Given the description of an element on the screen output the (x, y) to click on. 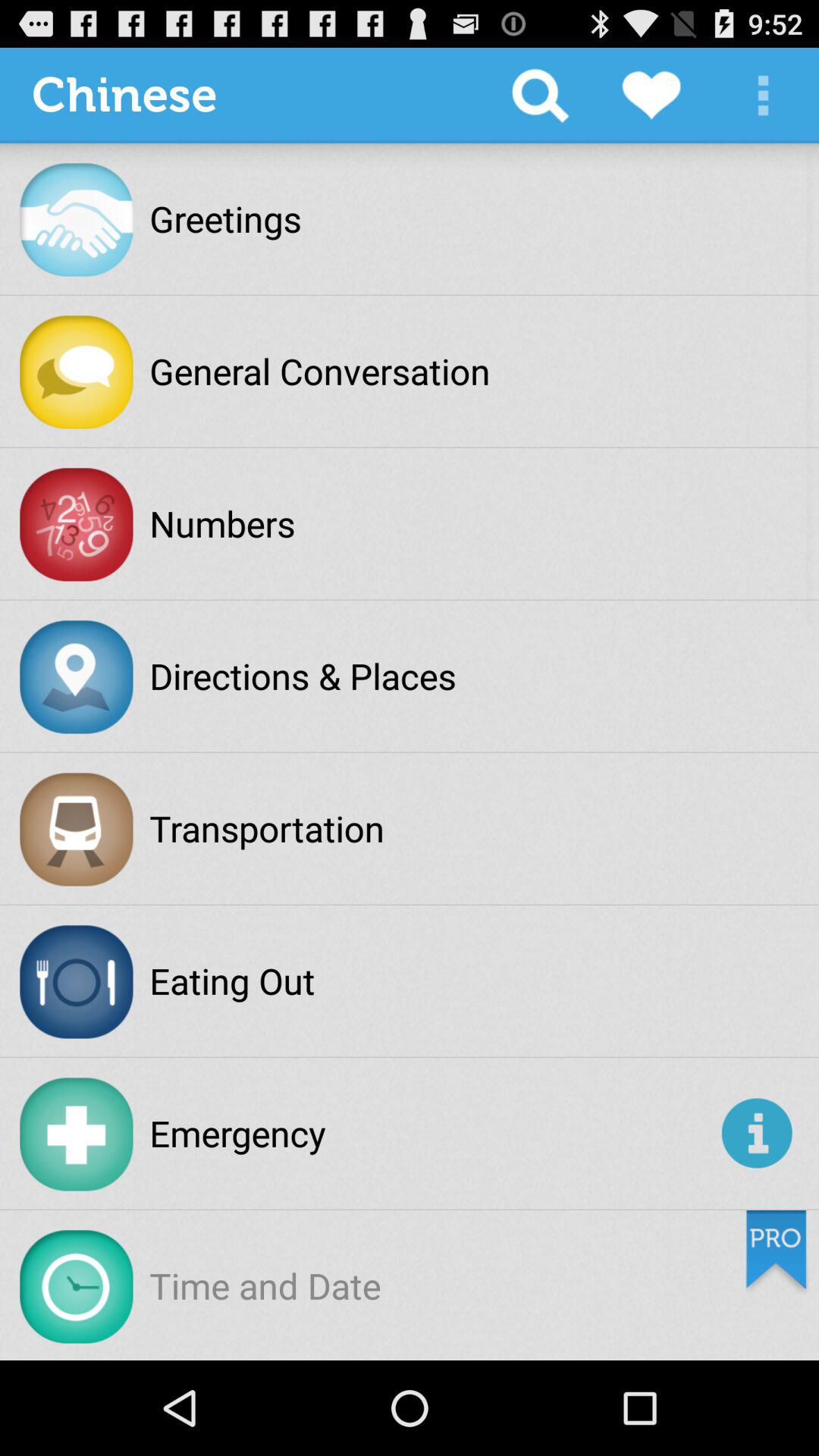
turn off the transportation app (266, 828)
